Given the description of an element on the screen output the (x, y) to click on. 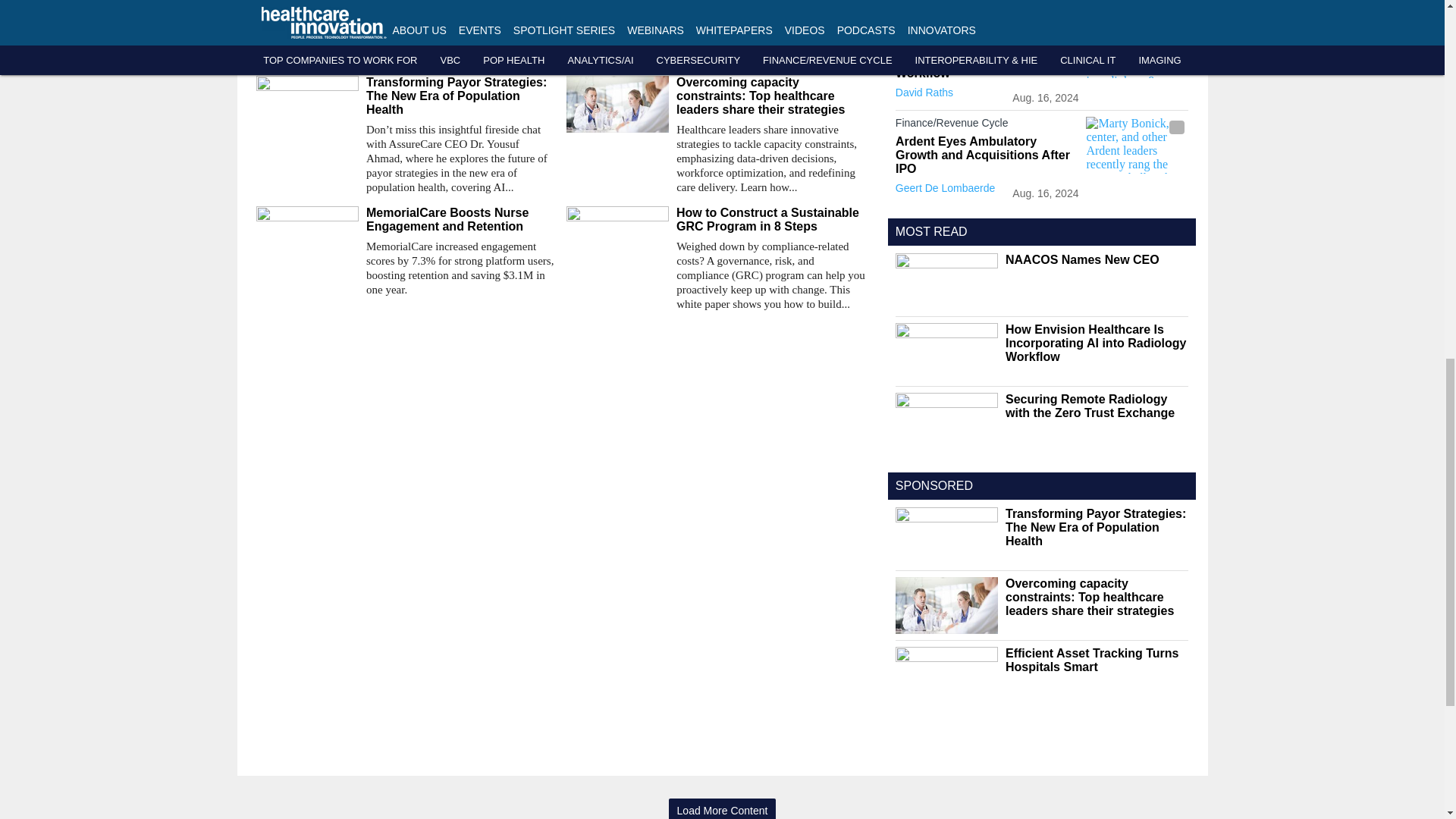
UpStream Health Prepares for Expansion, ACO Reach (715, 11)
How to Construct a Sustainable GRC Program in 8 Steps (770, 219)
MemorialCare Boosts Nurse Engagement and Retention (459, 219)
LATEST IN HOME (945, 2)
